Given the description of an element on the screen output the (x, y) to click on. 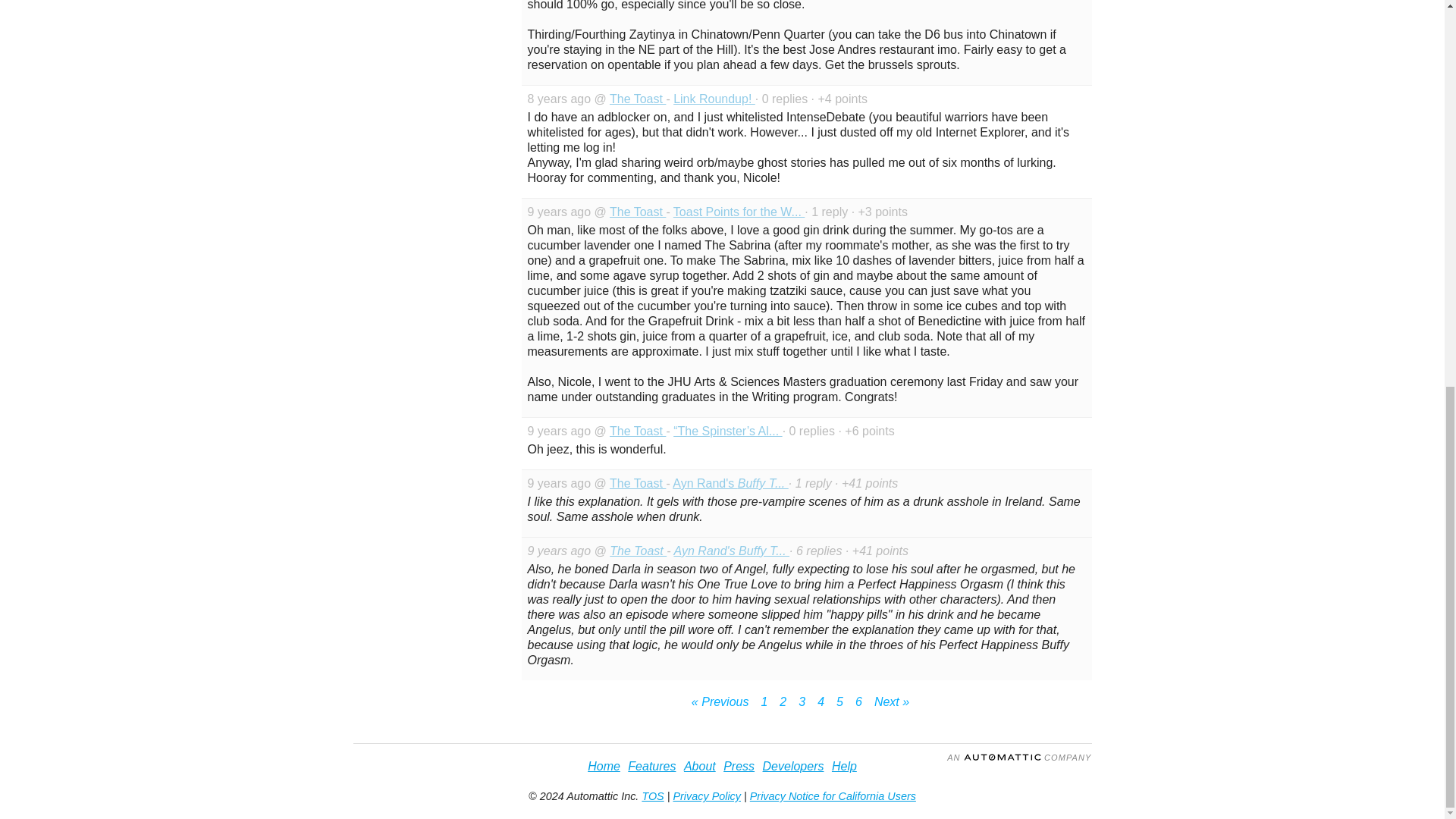
AN COMPANY (1018, 757)
Ayn Rand's Buffy T... (729, 482)
Link Roundup! (713, 98)
The Toast (637, 431)
The Toast (637, 211)
Press (738, 766)
Help (844, 766)
Ayn Rand's Buffy T... (730, 550)
Features (651, 766)
The Toast (637, 98)
